Given the description of an element on the screen output the (x, y) to click on. 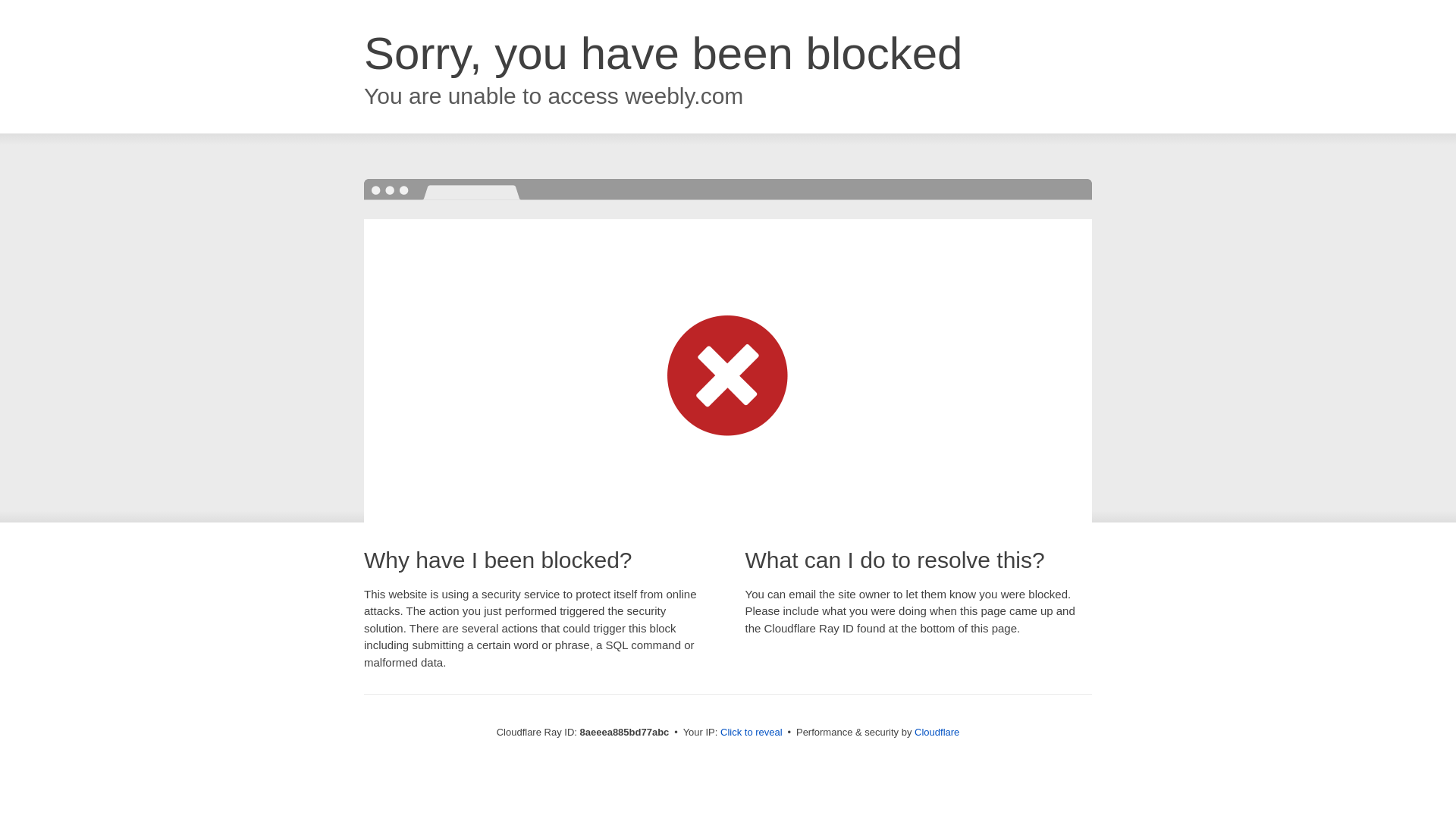
Click to reveal (751, 732)
Cloudflare (936, 731)
